Given the description of an element on the screen output the (x, y) to click on. 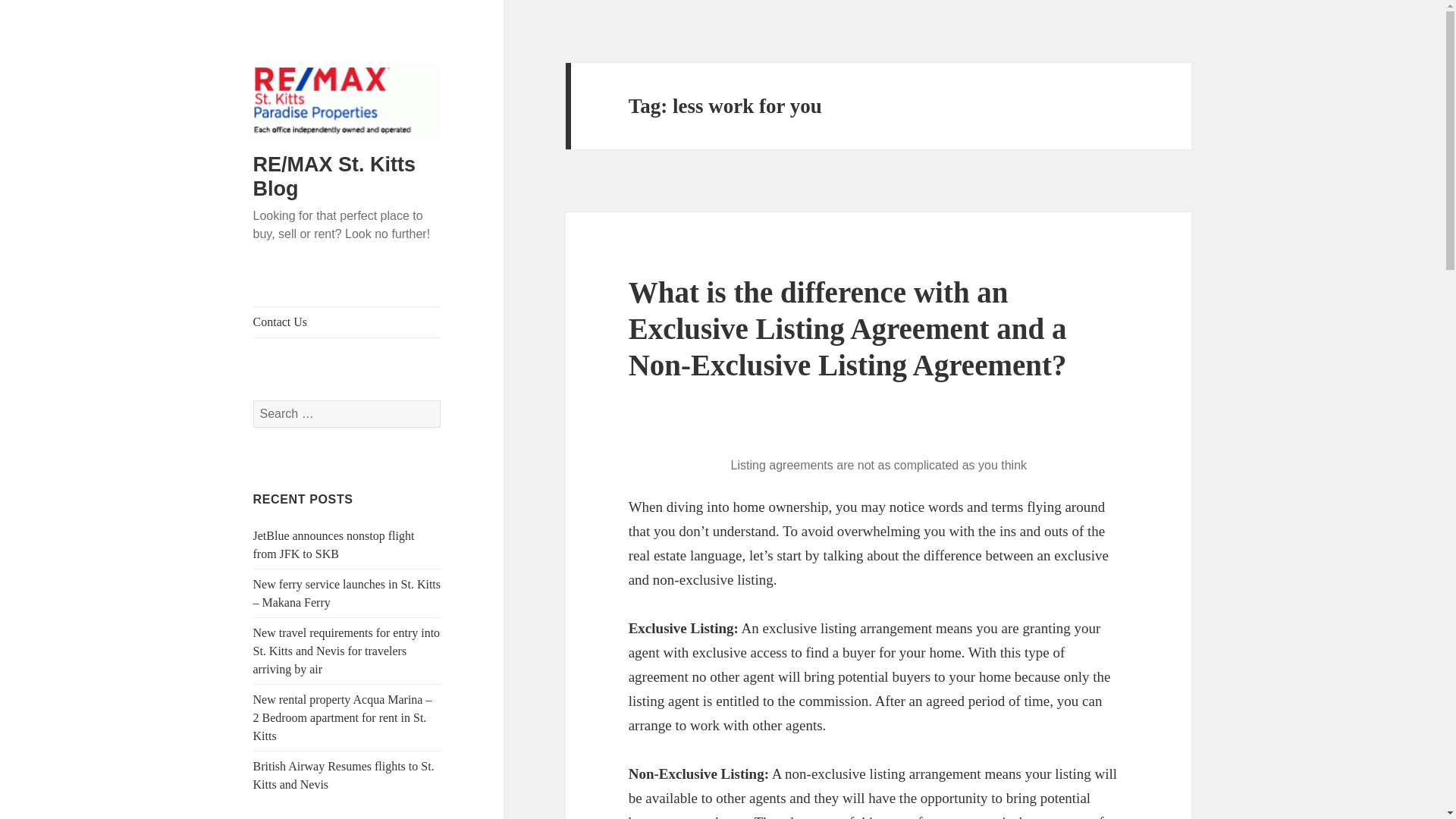
Contact Us (347, 322)
British Airway Resumes flights to St. Kitts and Nevis (343, 775)
JetBlue announces nonstop flight from JFK to SKB (333, 544)
